Given the description of an element on the screen output the (x, y) to click on. 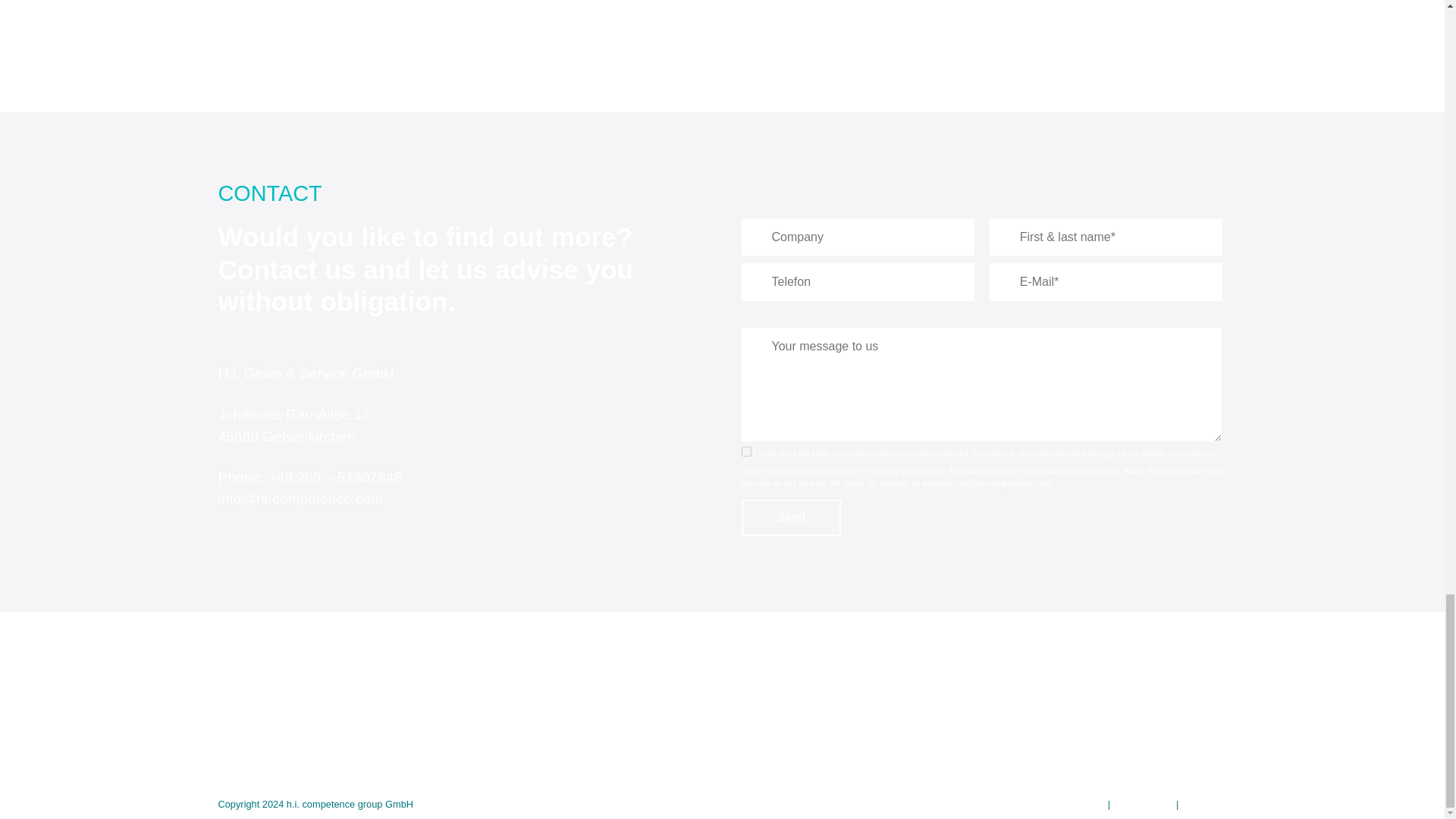
Send (791, 517)
Privacy Policy (1143, 803)
Disclaimer (1203, 803)
Send (791, 517)
Data protection policy (852, 452)
Health (883, 704)
Hygienic (888, 682)
Imprint (1090, 803)
Services (888, 726)
1 (746, 451)
